Given the description of an element on the screen output the (x, y) to click on. 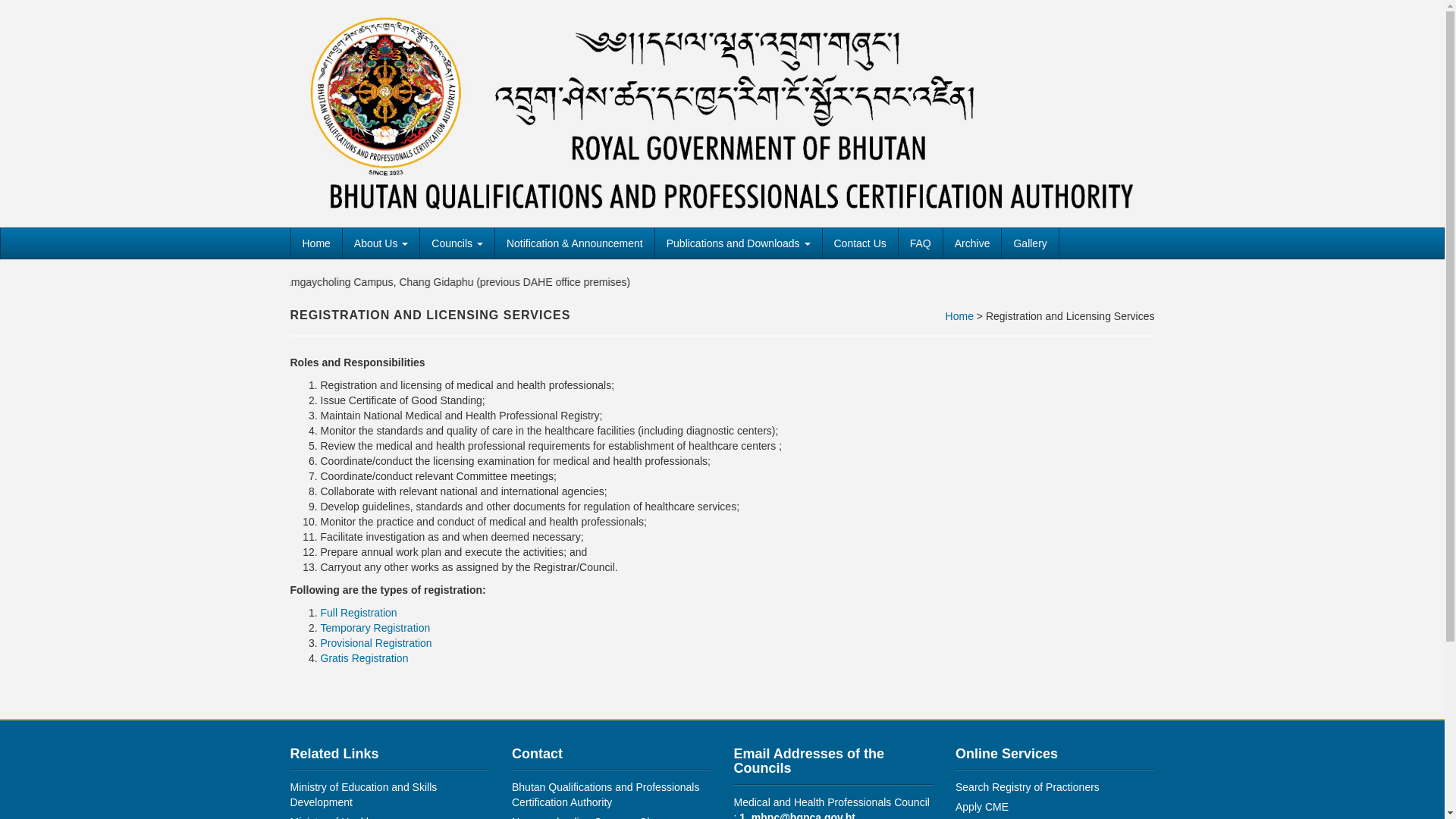
Search Registry of Practioners Element type: text (1027, 787)
Gallery Element type: text (1029, 243)
Councils Element type: text (456, 243)
Home Element type: text (959, 316)
Notification & Announcement Element type: text (574, 243)
Publications and Downloads Element type: text (738, 243)
Gratis Registration Element type: text (363, 658)
About Us Element type: text (380, 243)
Full Registration Element type: text (358, 612)
Contact Us Element type: text (859, 243)
Archive Element type: text (971, 243)
Temporary Registration Element type: text (374, 627)
Home Element type: text (315, 243)
Provisional Registration Element type: text (375, 643)
Apply CME Element type: text (981, 806)
FAQ Element type: text (919, 243)
Ministry of Education and Skills Development Element type: text (362, 794)
